Given the description of an element on the screen output the (x, y) to click on. 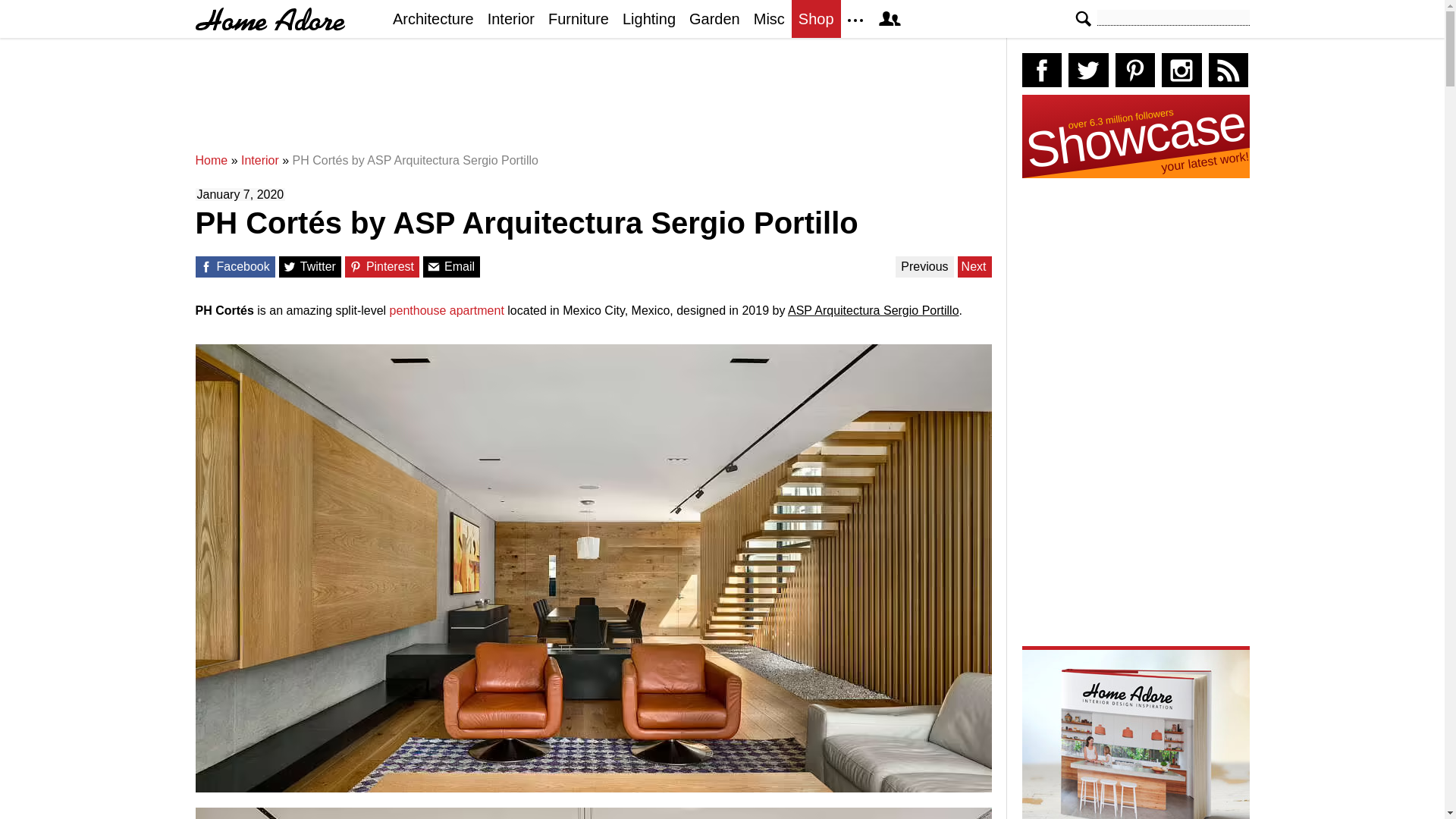
Interior (260, 160)
HomeAdore (270, 19)
Interior (260, 160)
Architecture (432, 18)
Garden (714, 18)
Home (211, 160)
Furniture (578, 18)
Share on Facebook (205, 266)
HomeAdore (270, 19)
Home (211, 160)
